Given the description of an element on the screen output the (x, y) to click on. 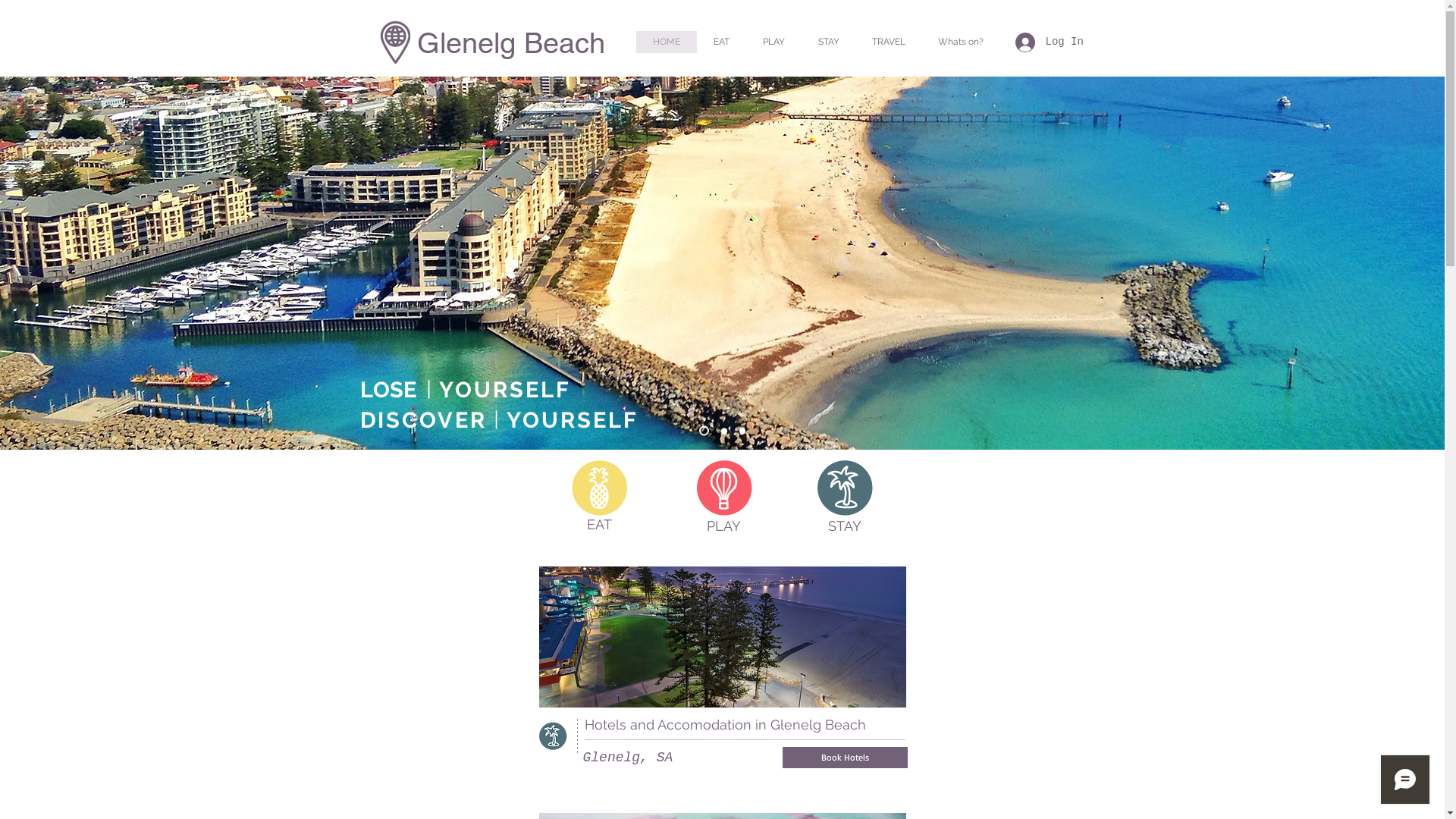
STAY Element type: text (844, 526)
TRAVEL Element type: text (888, 42)
STAY Element type: text (827, 42)
Book Hotels Element type: text (844, 757)
Glenelg Beach Element type: text (511, 42)
Log In Element type: text (1048, 41)
EAT Element type: text (720, 42)
PLAY Element type: text (723, 526)
EAT Element type: text (598, 524)
HOME Element type: text (665, 42)
Whats on? Element type: text (961, 42)
PLAY Element type: text (773, 42)
